Given the description of an element on the screen output the (x, y) to click on. 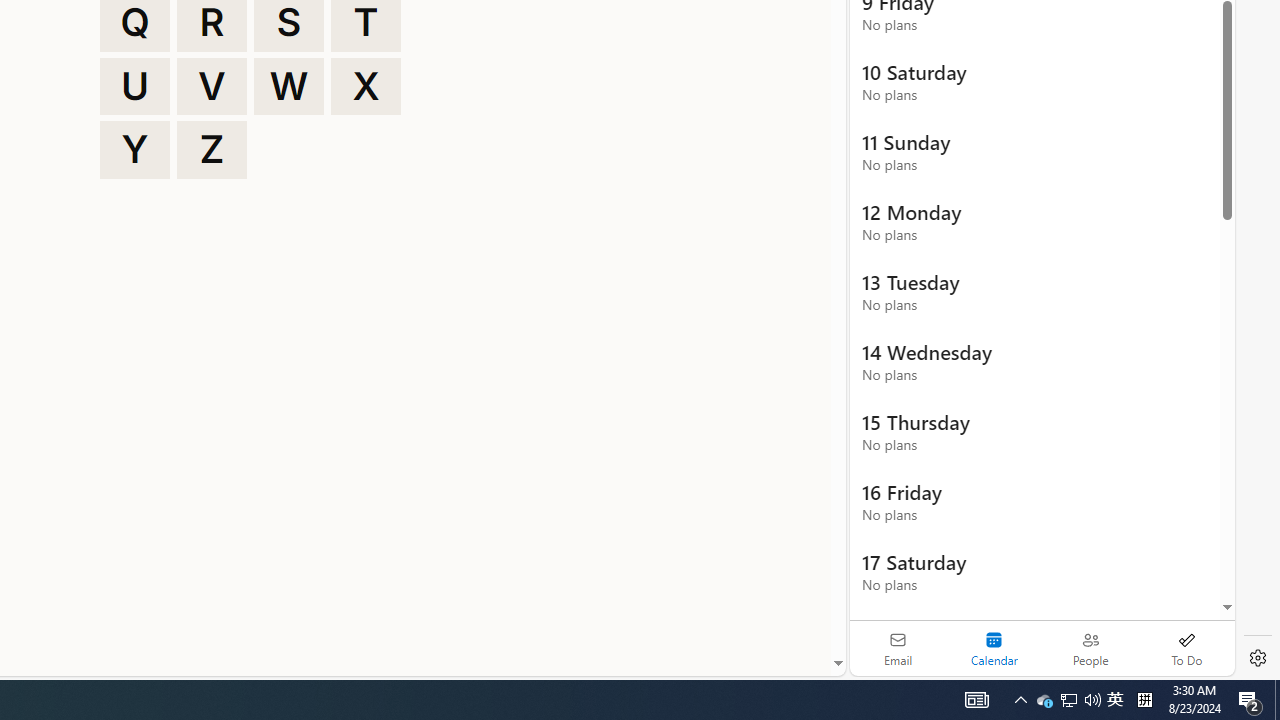
U (134, 85)
X (365, 85)
To Do (1186, 648)
Y (134, 149)
W (289, 85)
Email (898, 648)
Z (212, 149)
Settings (1258, 658)
